Given the description of an element on the screen output the (x, y) to click on. 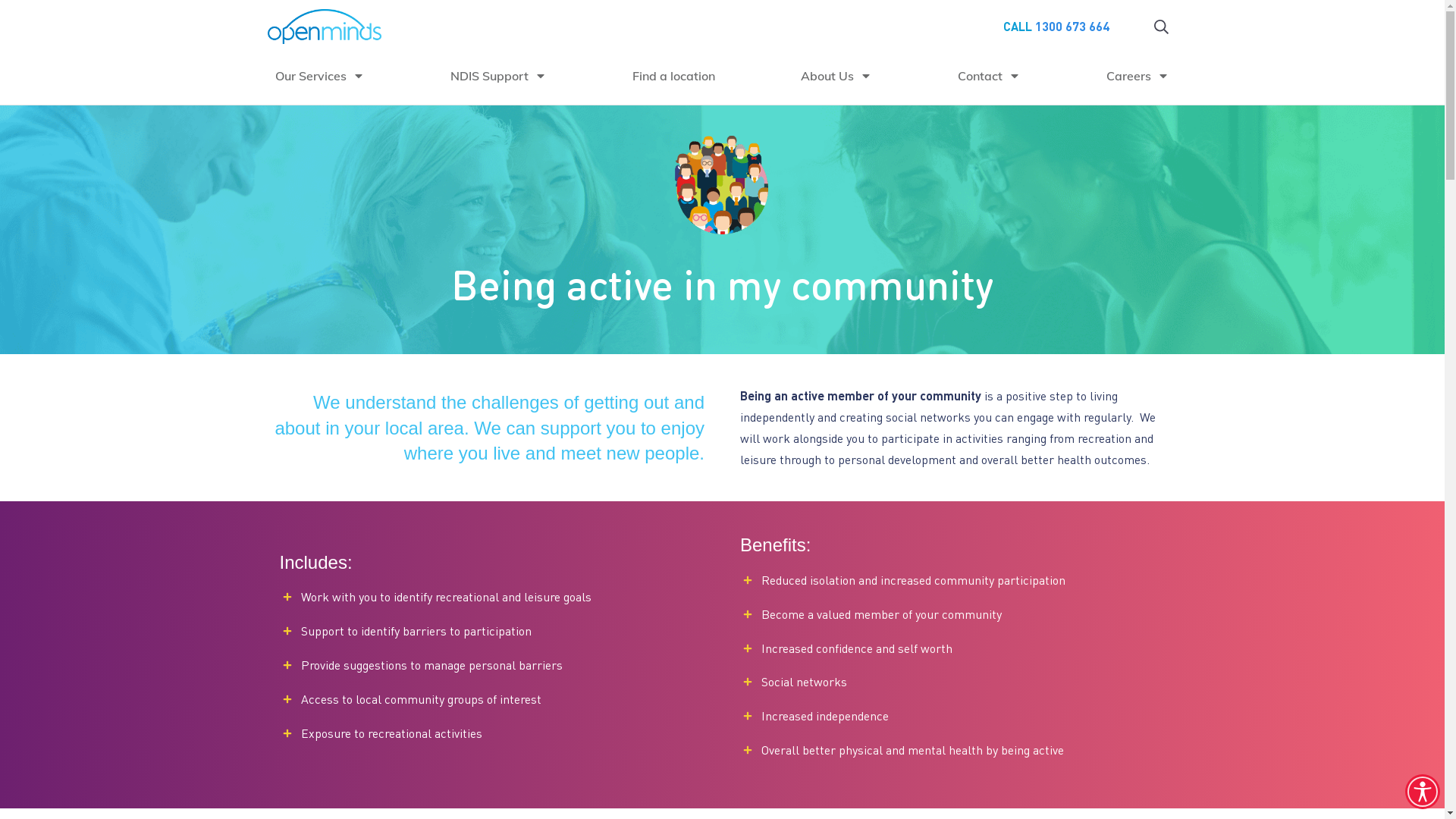
Careers Element type: text (1137, 75)
CALL 1300 673 664 Element type: text (1056, 26)
About Us Element type: text (836, 75)
NDIS Support Element type: text (498, 75)
service-active-community Element type: hover (721, 188)
Find a location Element type: text (673, 75)
Our Services Element type: text (319, 75)
Contact Element type: text (988, 75)
